Given the description of an element on the screen output the (x, y) to click on. 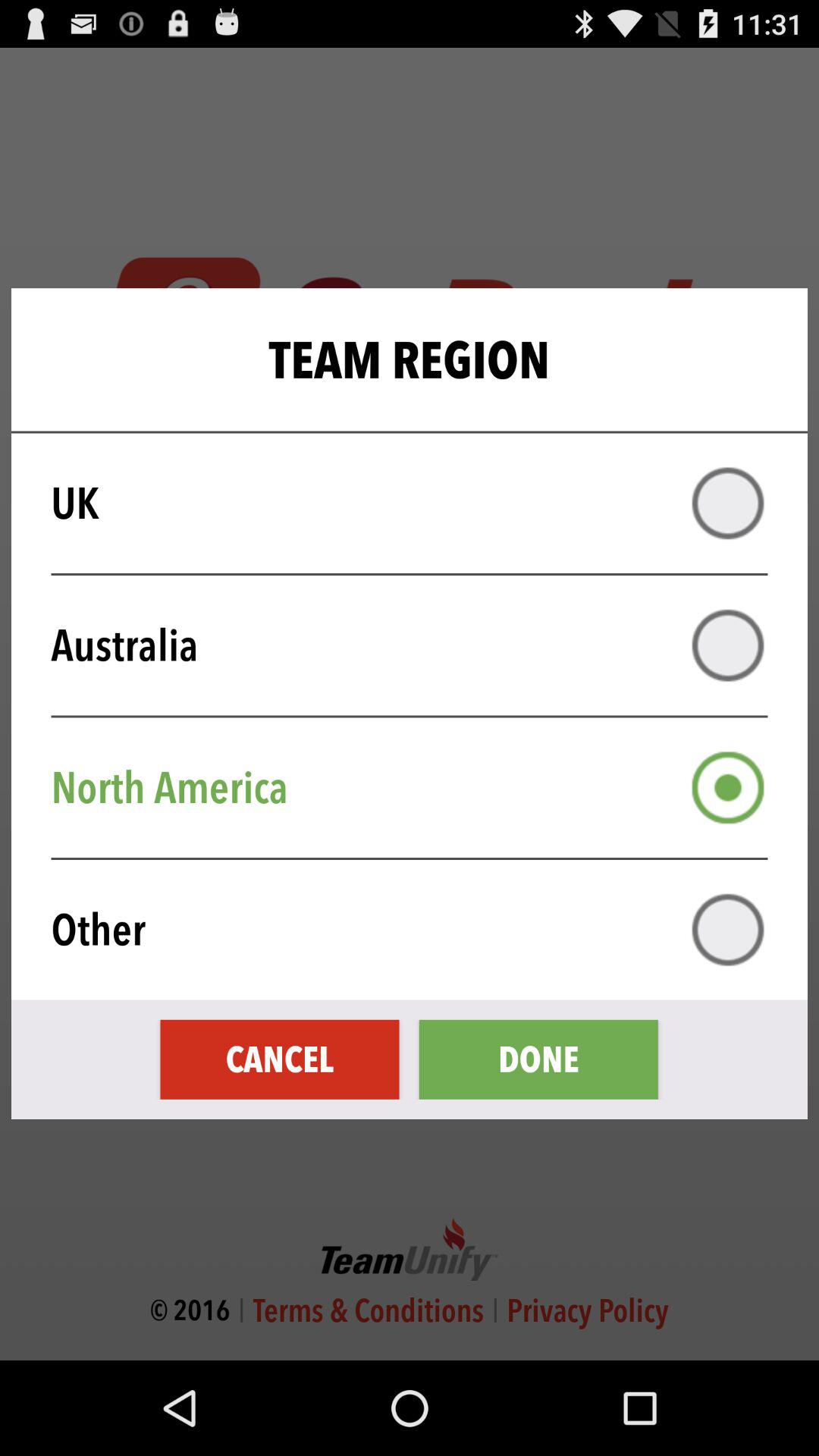
flip until cancel item (279, 1059)
